Given the description of an element on the screen output the (x, y) to click on. 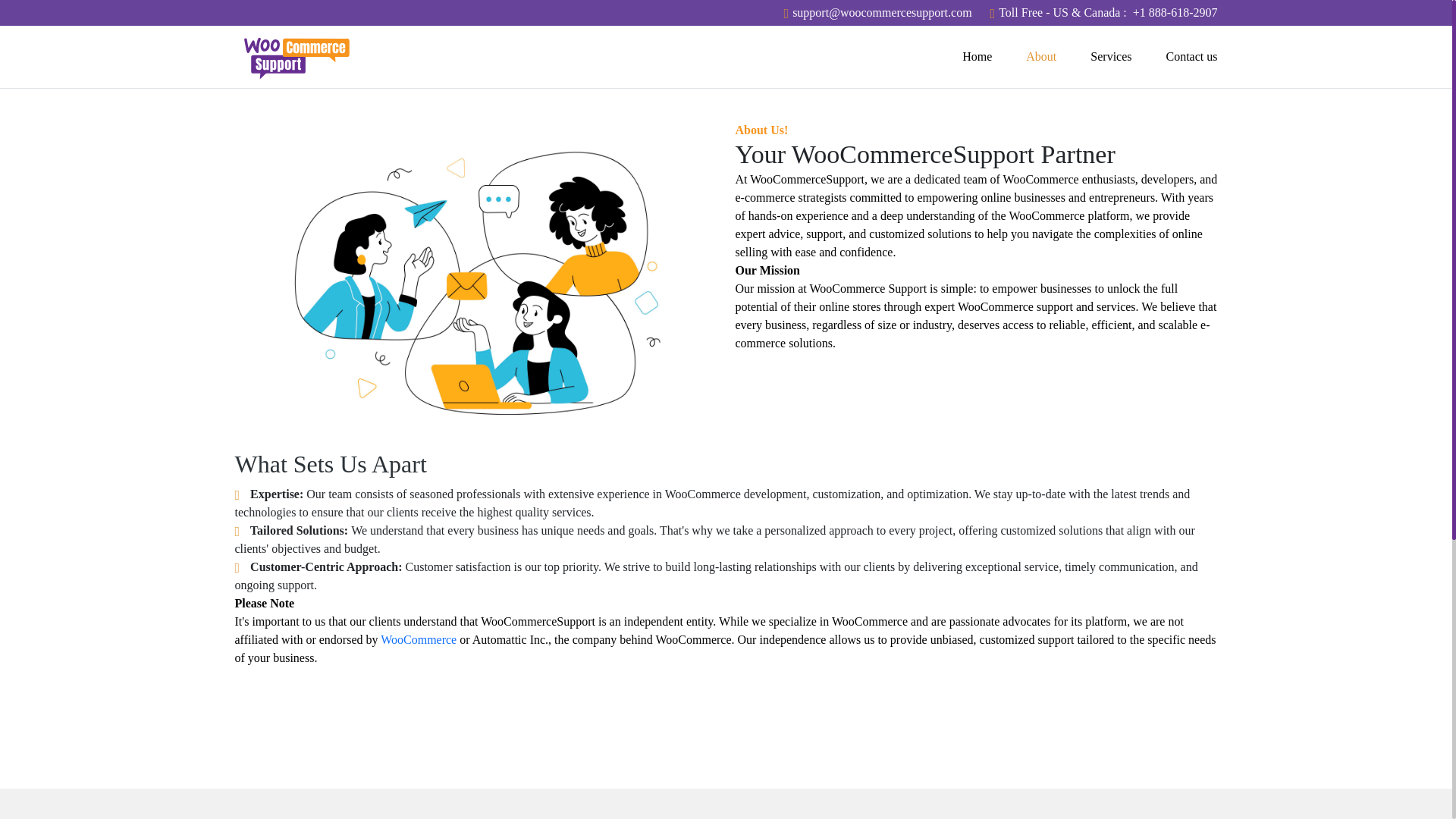
Services (1128, 56)
Contact us (1191, 56)
WooCommerce (418, 639)
Home (994, 56)
About (1058, 56)
